Given the description of an element on the screen output the (x, y) to click on. 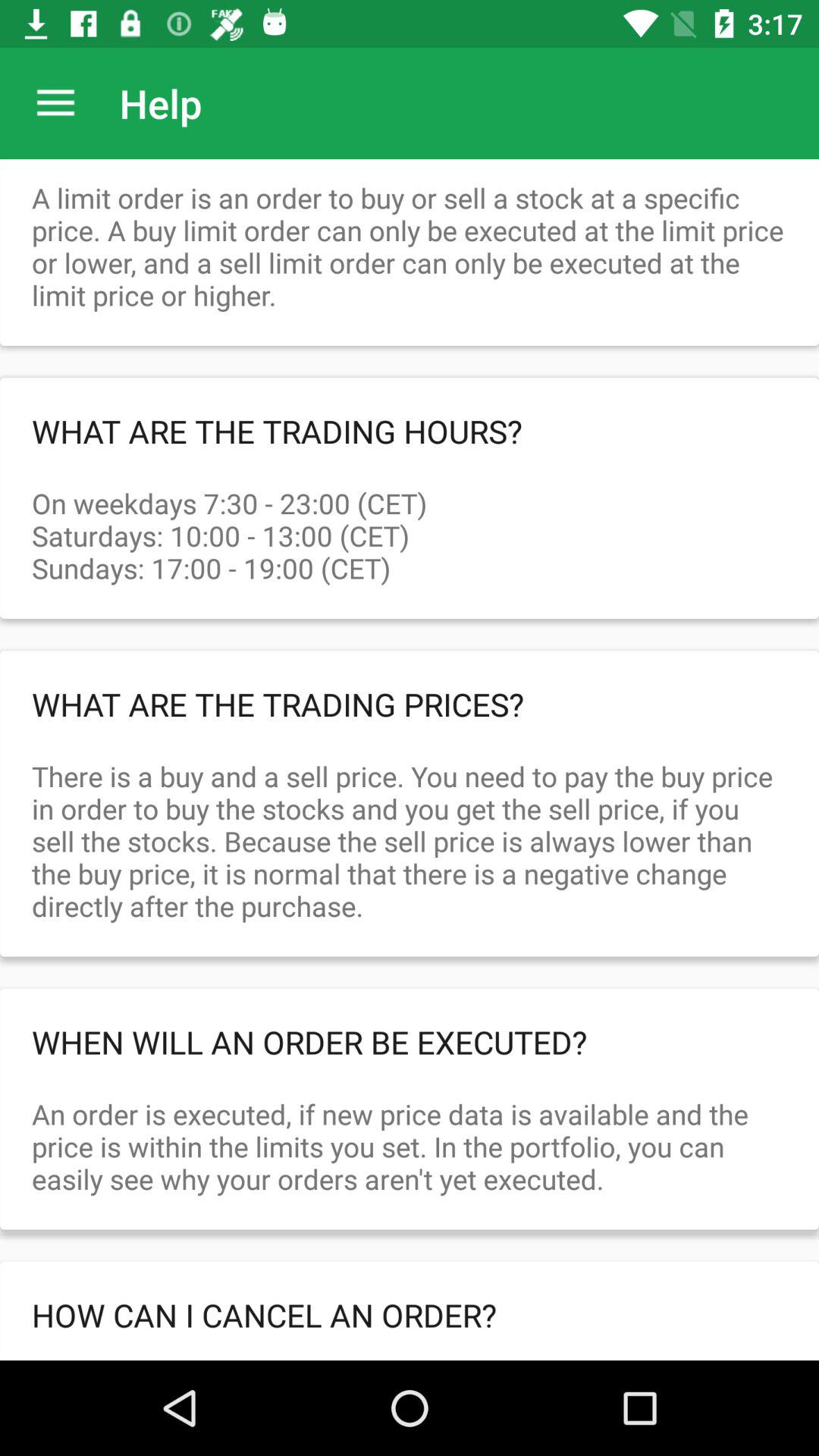
select icon to the left of the help item (55, 103)
